Given the description of an element on the screen output the (x, y) to click on. 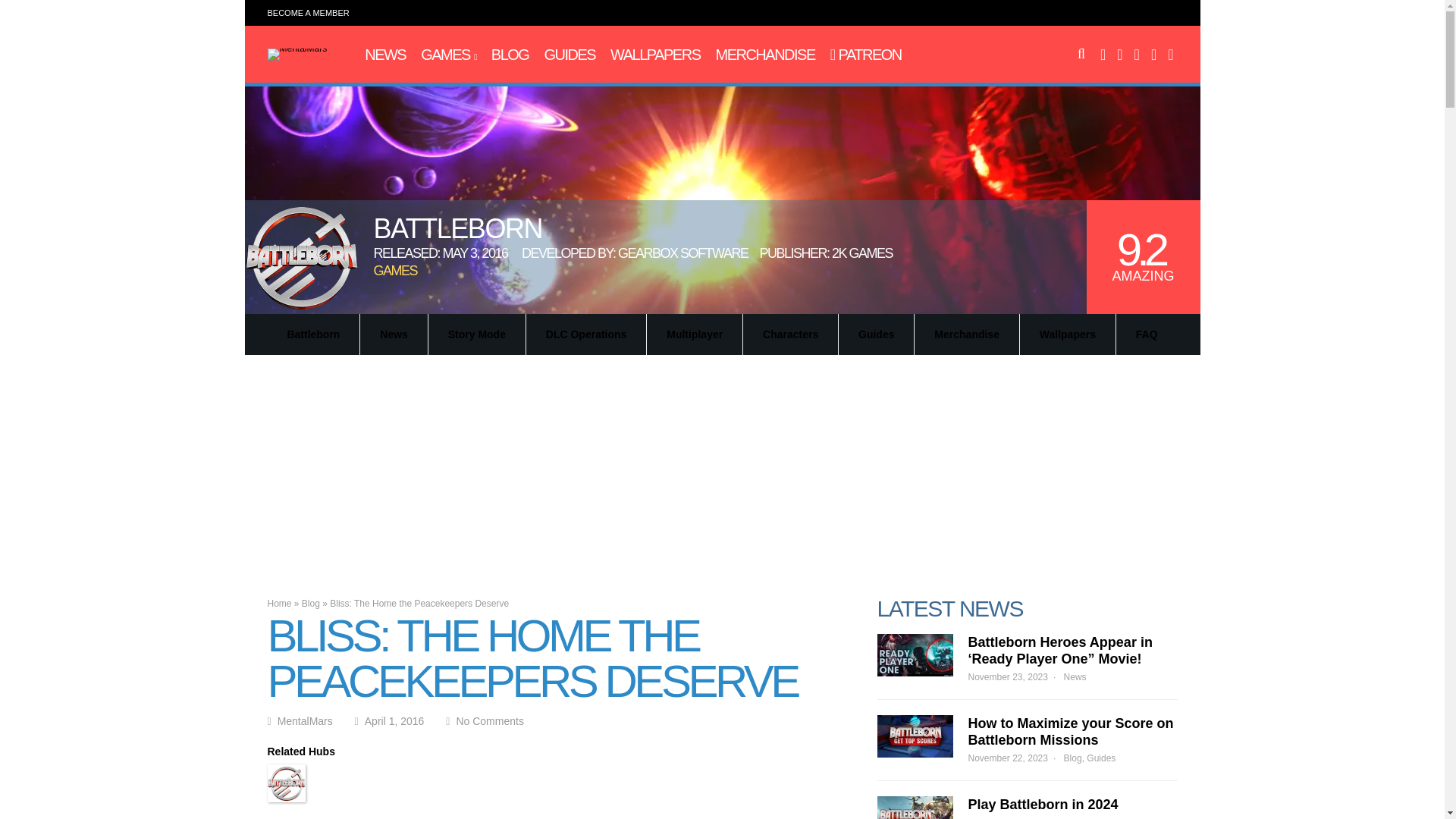
MentalMars (296, 47)
BECOME A MEMBER (307, 13)
PATREON (865, 54)
MERCHANDISE (763, 54)
GAMES (448, 54)
Game Wallpapers (655, 54)
NEWS (385, 54)
GUIDES (569, 54)
Merchandise (763, 54)
News (385, 54)
BLOG (510, 54)
WALLPAPERS (655, 54)
Blog (510, 54)
